Given the description of an element on the screen output the (x, y) to click on. 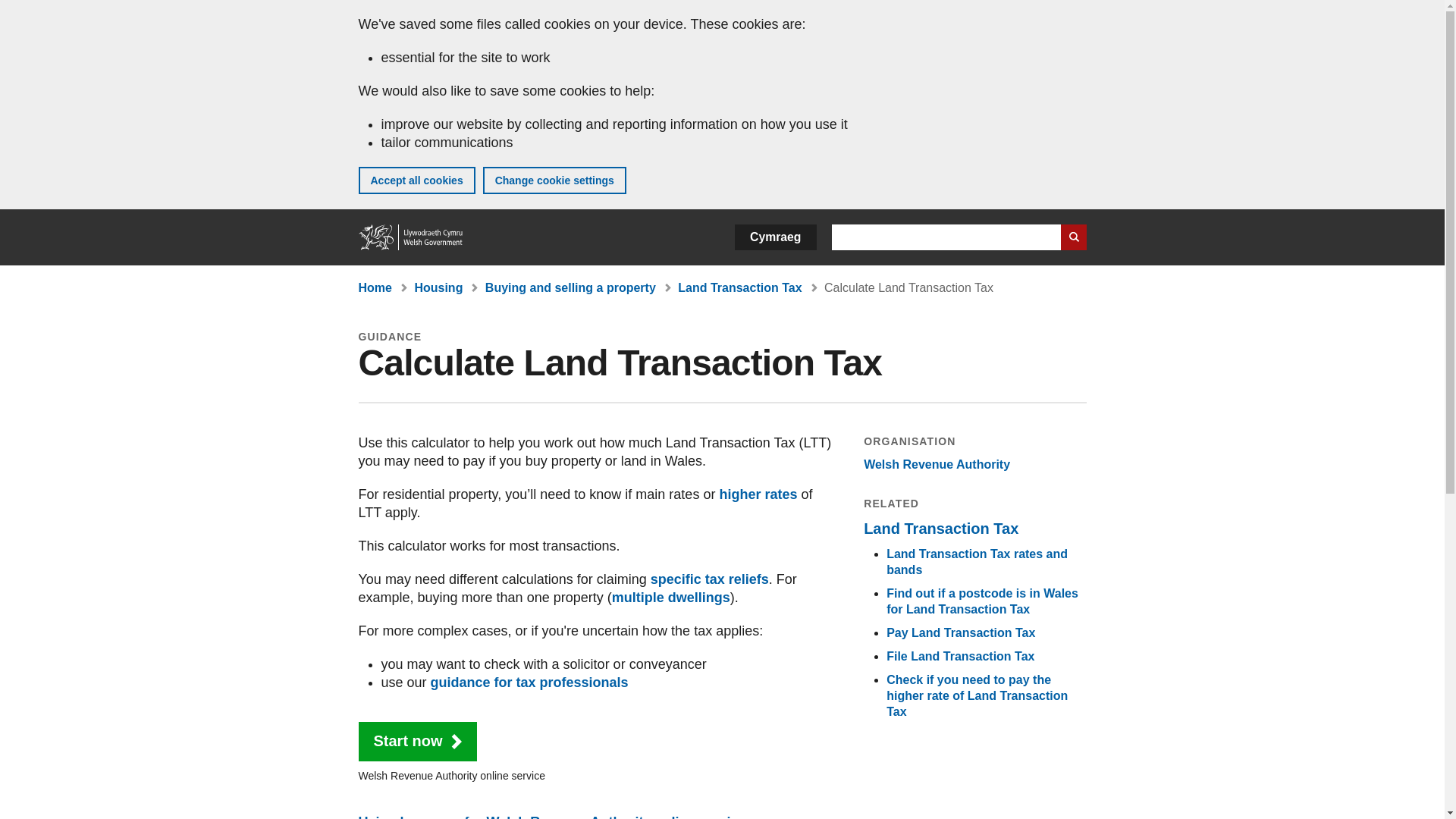
Find out if a postcode is in Wales for Land Transaction Tax (982, 601)
Using browsers for Welsh Revenue Authority online services (555, 816)
Pay Land Transaction Tax (960, 632)
Home (374, 287)
specific tax reliefs (709, 579)
Welsh Government (411, 237)
Cymraeg (775, 237)
Search website (1072, 237)
multiple dwellings (670, 597)
Search website (1072, 237)
